Given the description of an element on the screen output the (x, y) to click on. 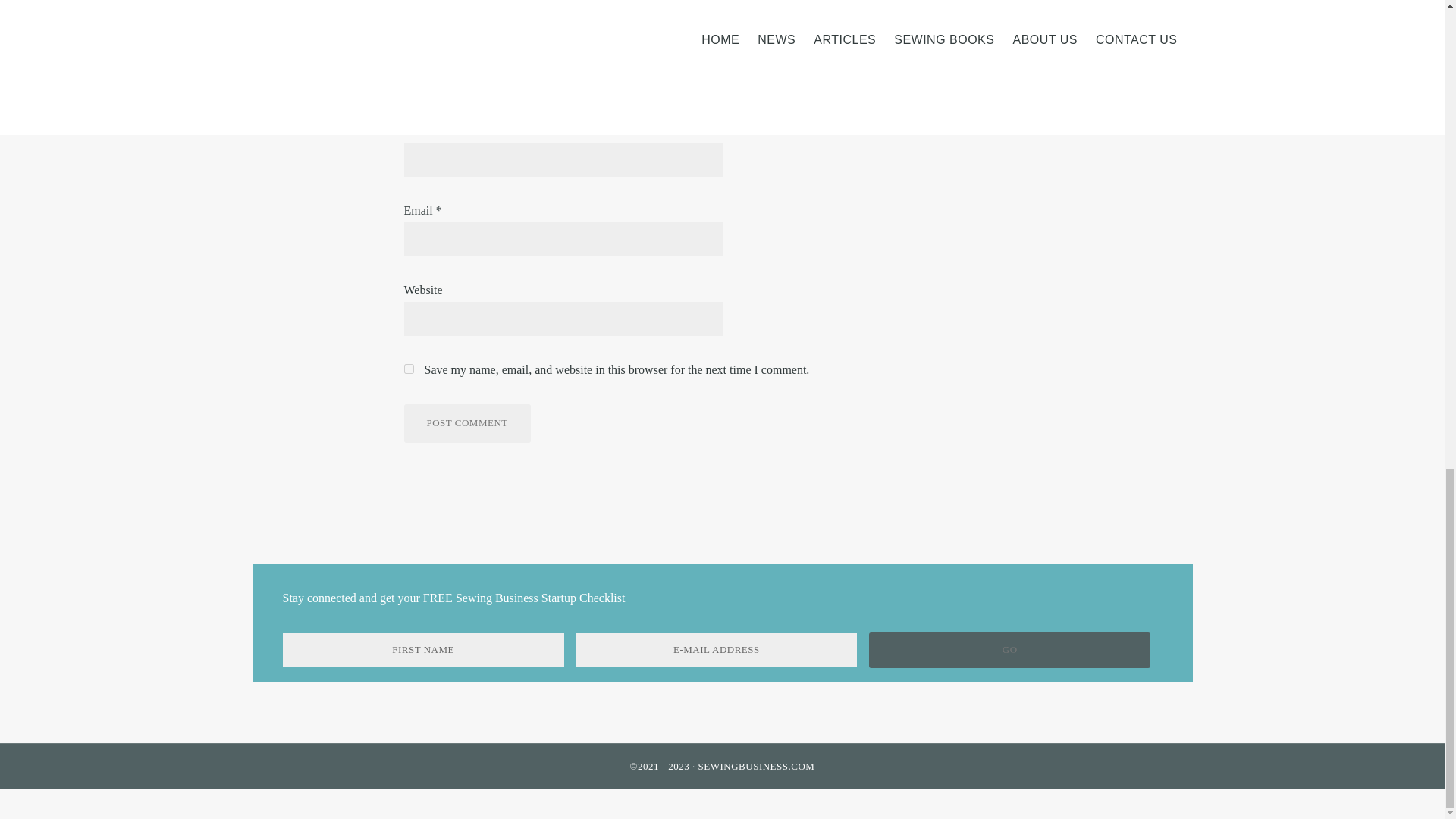
Go (1009, 650)
Post Comment (466, 423)
Go (1009, 650)
yes (408, 368)
Post Comment (466, 423)
